Given the description of an element on the screen output the (x, y) to click on. 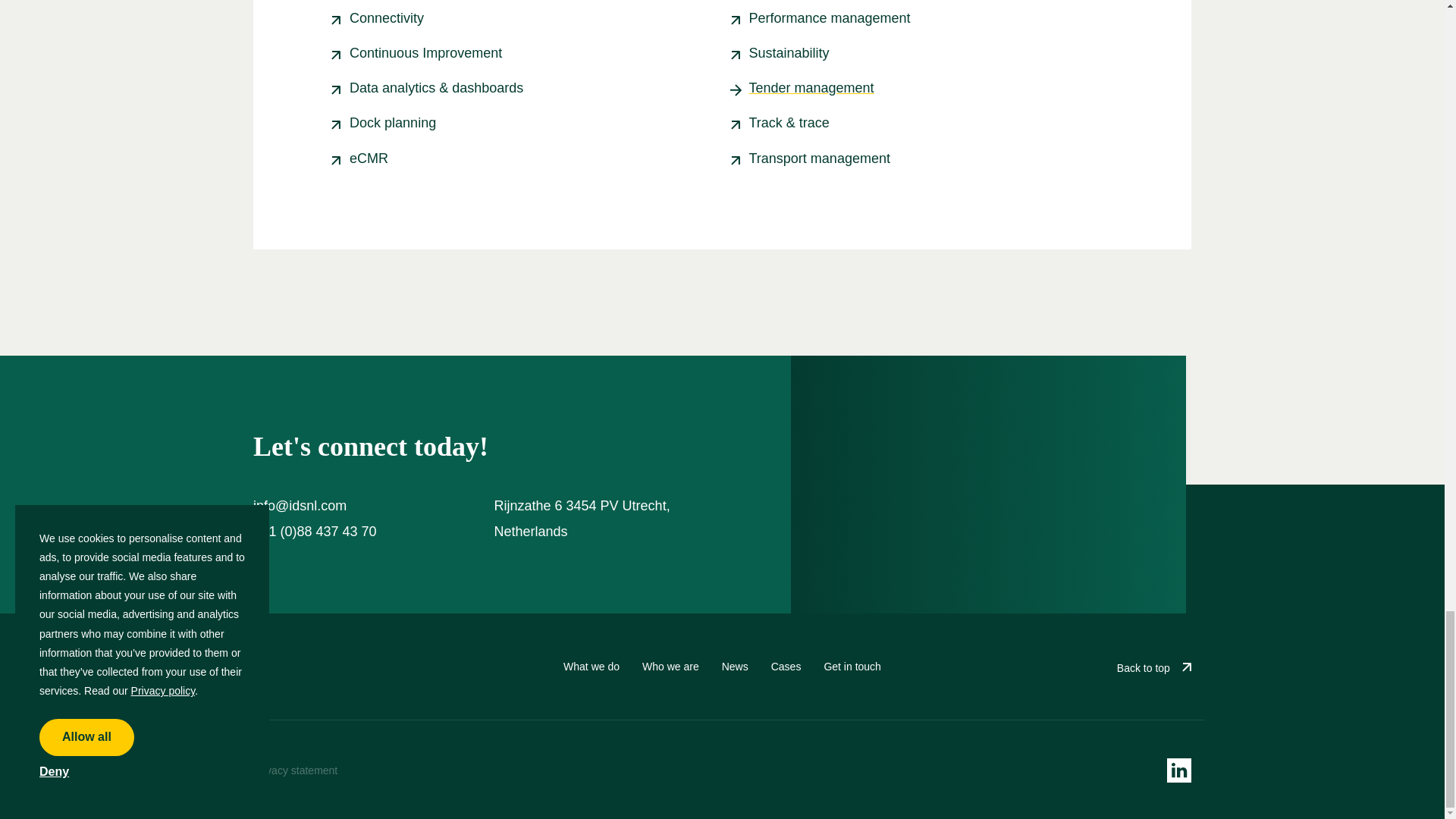
Performance management (830, 17)
News (735, 666)
Dock planning (392, 122)
Sustainability (789, 52)
Continuous Improvement (425, 52)
Connectivity (386, 17)
Back to top (1153, 666)
Tender management (812, 87)
Transport management (819, 158)
Cases (786, 666)
Get in touch (852, 666)
Privacy statement (295, 770)
What we do (591, 666)
eCMR (368, 158)
Who we are (670, 666)
